Given the description of an element on the screen output the (x, y) to click on. 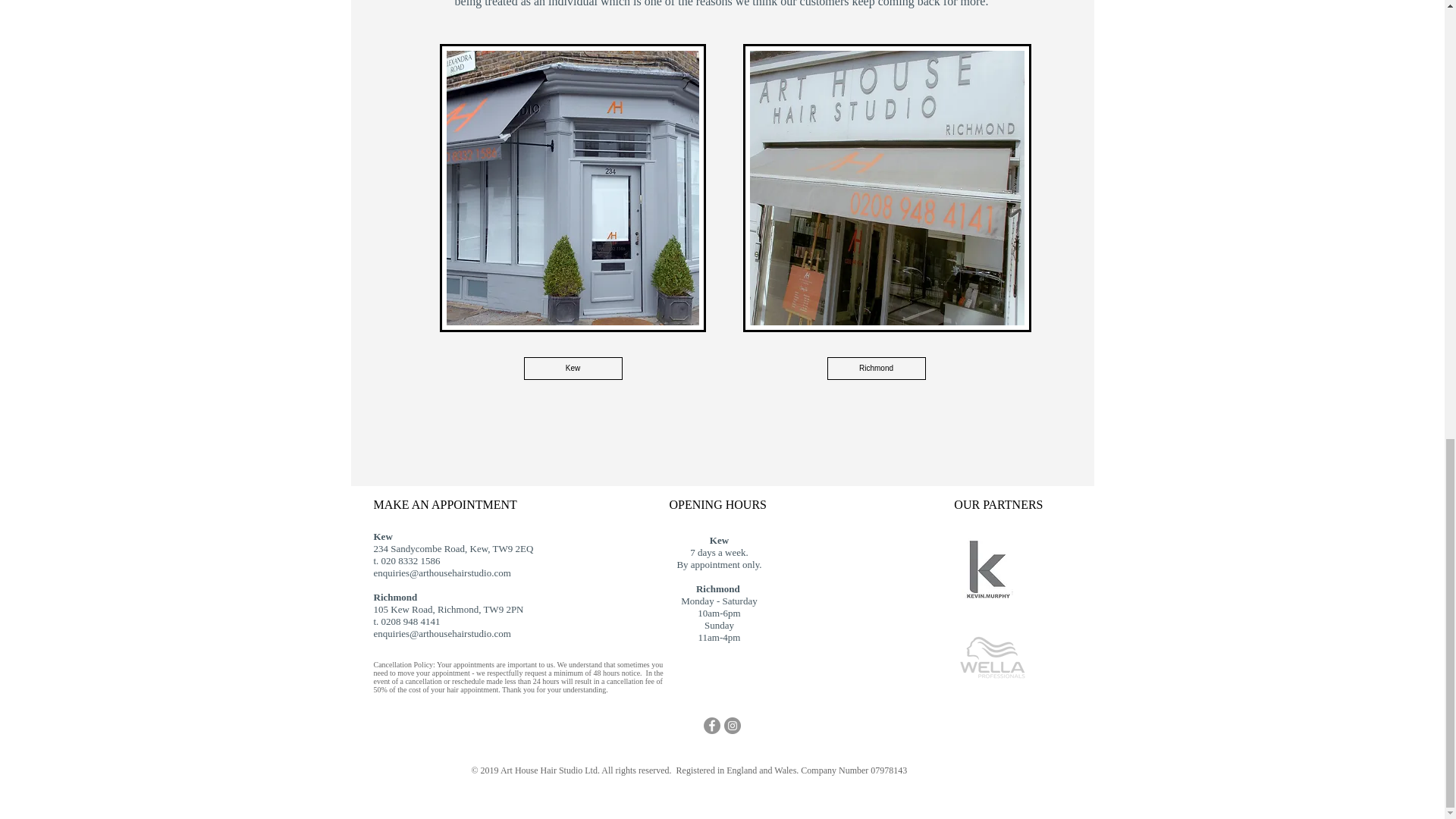
Kew (571, 368)
Kew Botique (572, 188)
Richmond (875, 368)
